Given the description of an element on the screen output the (x, y) to click on. 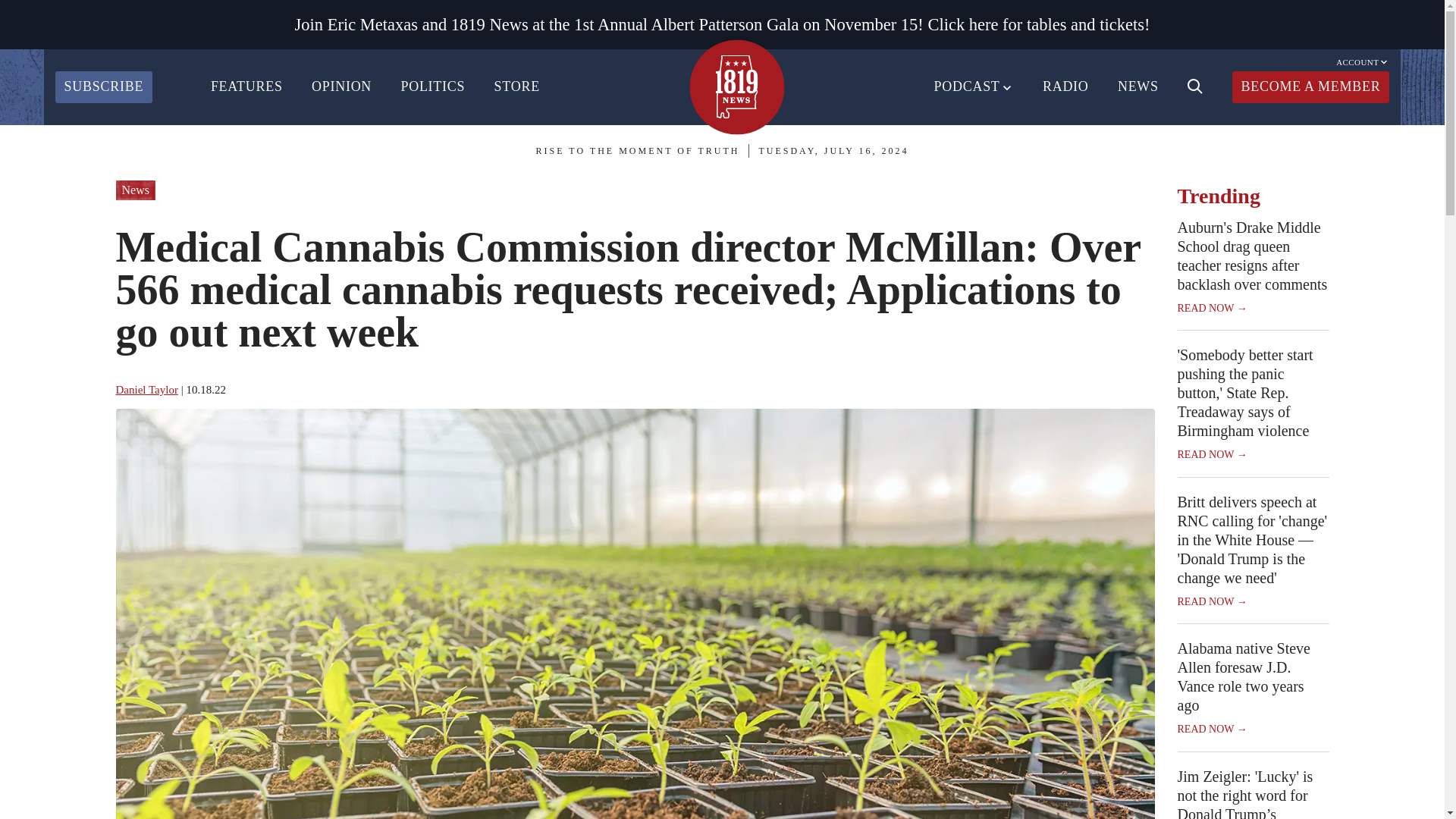
STORE (517, 87)
FEATURES (246, 87)
SUBSCRIBE (103, 87)
HOMEPAGE (736, 86)
NEWS (1138, 87)
BECOME A MEMBER (1310, 87)
RADIO (1065, 87)
News (134, 189)
Daniel Taylor (146, 389)
POLITICS (432, 87)
OPINION (341, 87)
PODCAST (973, 87)
